Given the description of an element on the screen output the (x, y) to click on. 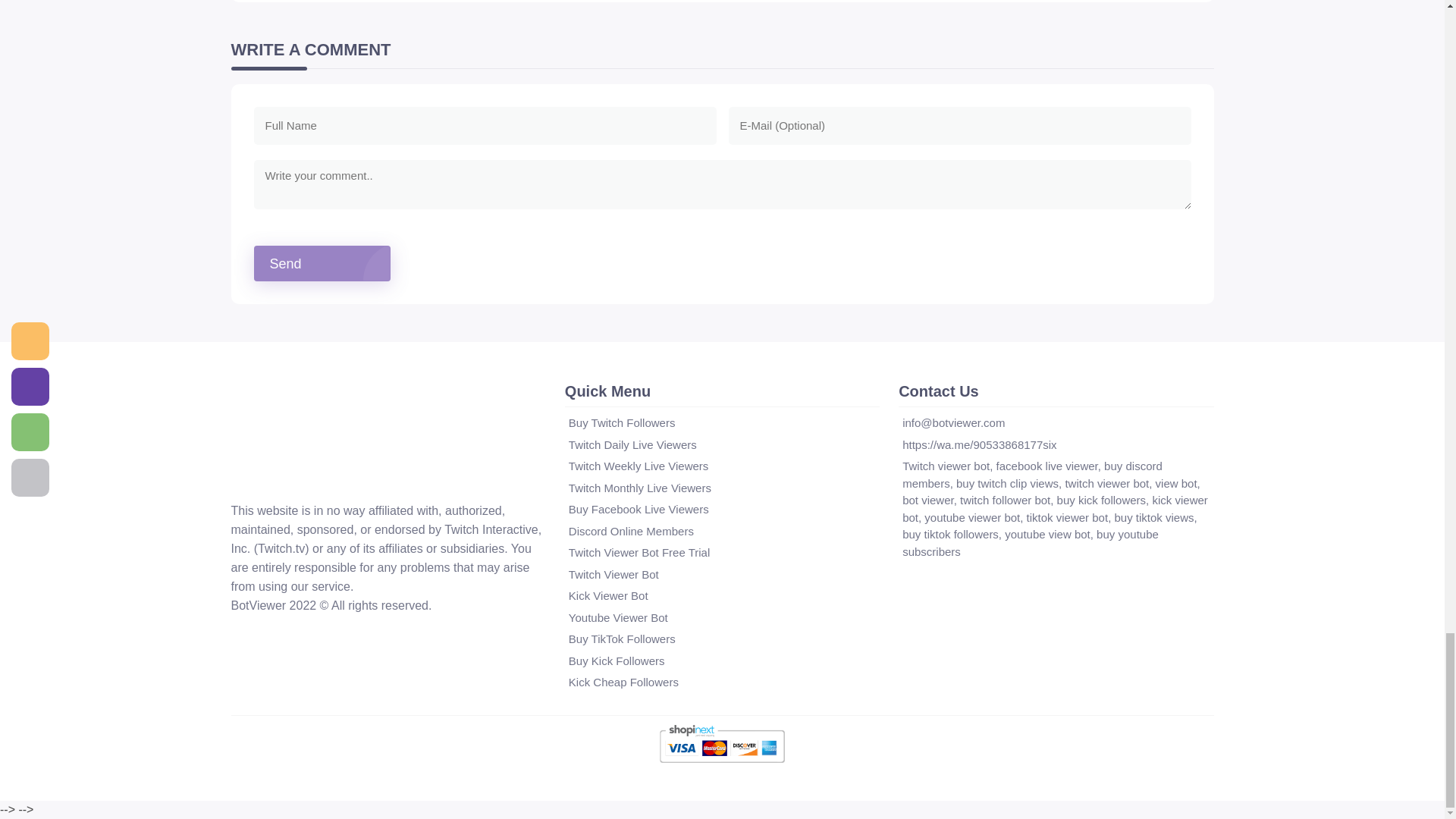
Payment Methods (722, 743)
Bot Viewer (248, 475)
